Given the description of an element on the screen output the (x, y) to click on. 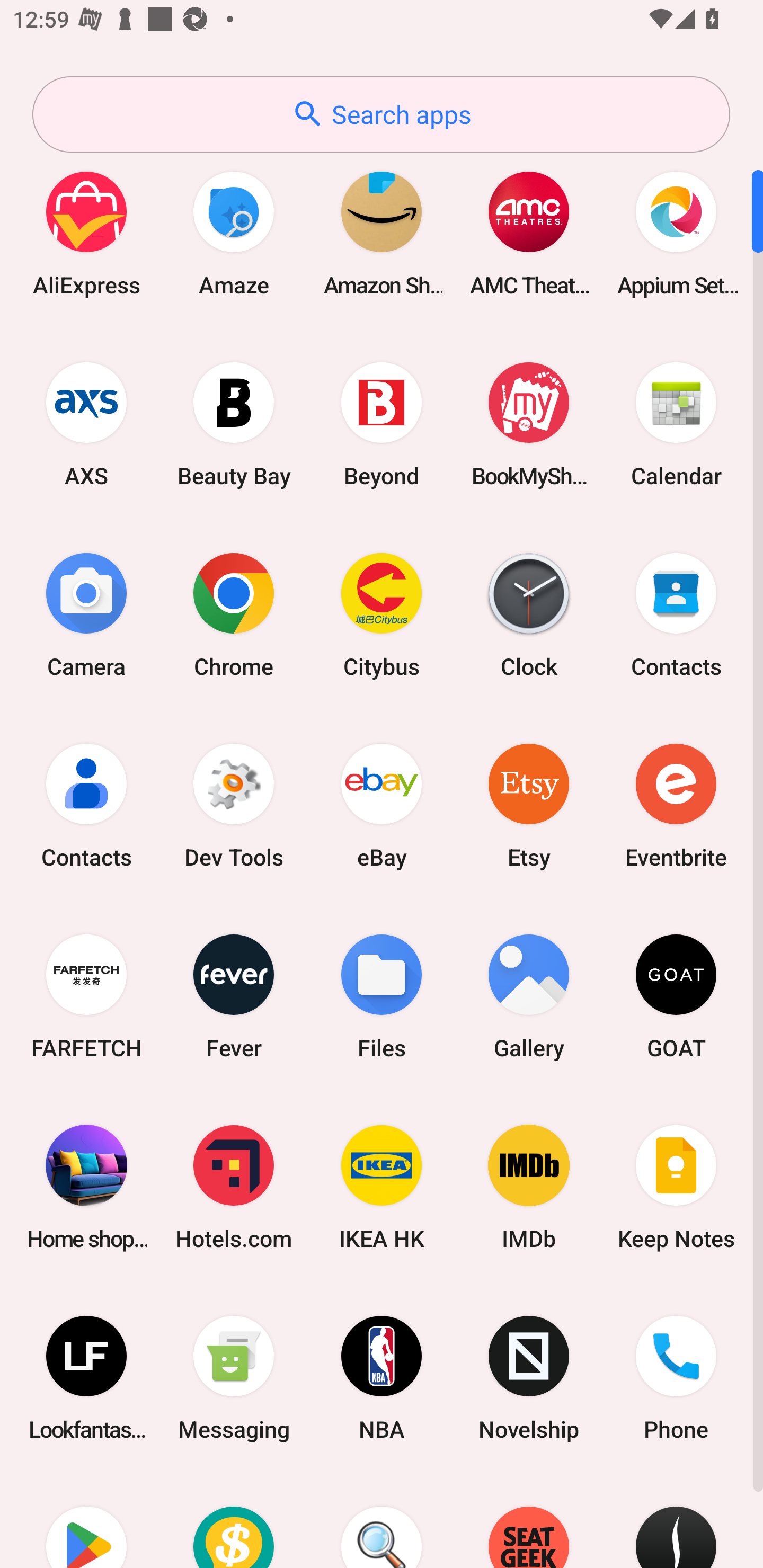
  Search apps (381, 114)
AliExpress (86, 233)
Amaze (233, 233)
Amazon Shopping (381, 233)
AMC Theatres (528, 233)
Appium Settings (676, 233)
AXS (86, 424)
Beauty Bay (233, 424)
Beyond (381, 424)
BookMyShow (528, 424)
Calendar (676, 424)
Camera (86, 614)
Chrome (233, 614)
Citybus (381, 614)
Clock (528, 614)
Contacts (676, 614)
Contacts (86, 805)
Dev Tools (233, 805)
eBay (381, 805)
Etsy (528, 805)
Eventbrite (676, 805)
FARFETCH (86, 996)
Fever (233, 996)
Files (381, 996)
Gallery (528, 996)
GOAT (676, 996)
Home shopping (86, 1186)
Hotels.com (233, 1186)
IKEA HK (381, 1186)
IMDb (528, 1186)
Keep Notes (676, 1186)
Lookfantastic (86, 1377)
Messaging (233, 1377)
NBA (381, 1377)
Novelship (528, 1377)
Phone (676, 1377)
